Given the description of an element on the screen output the (x, y) to click on. 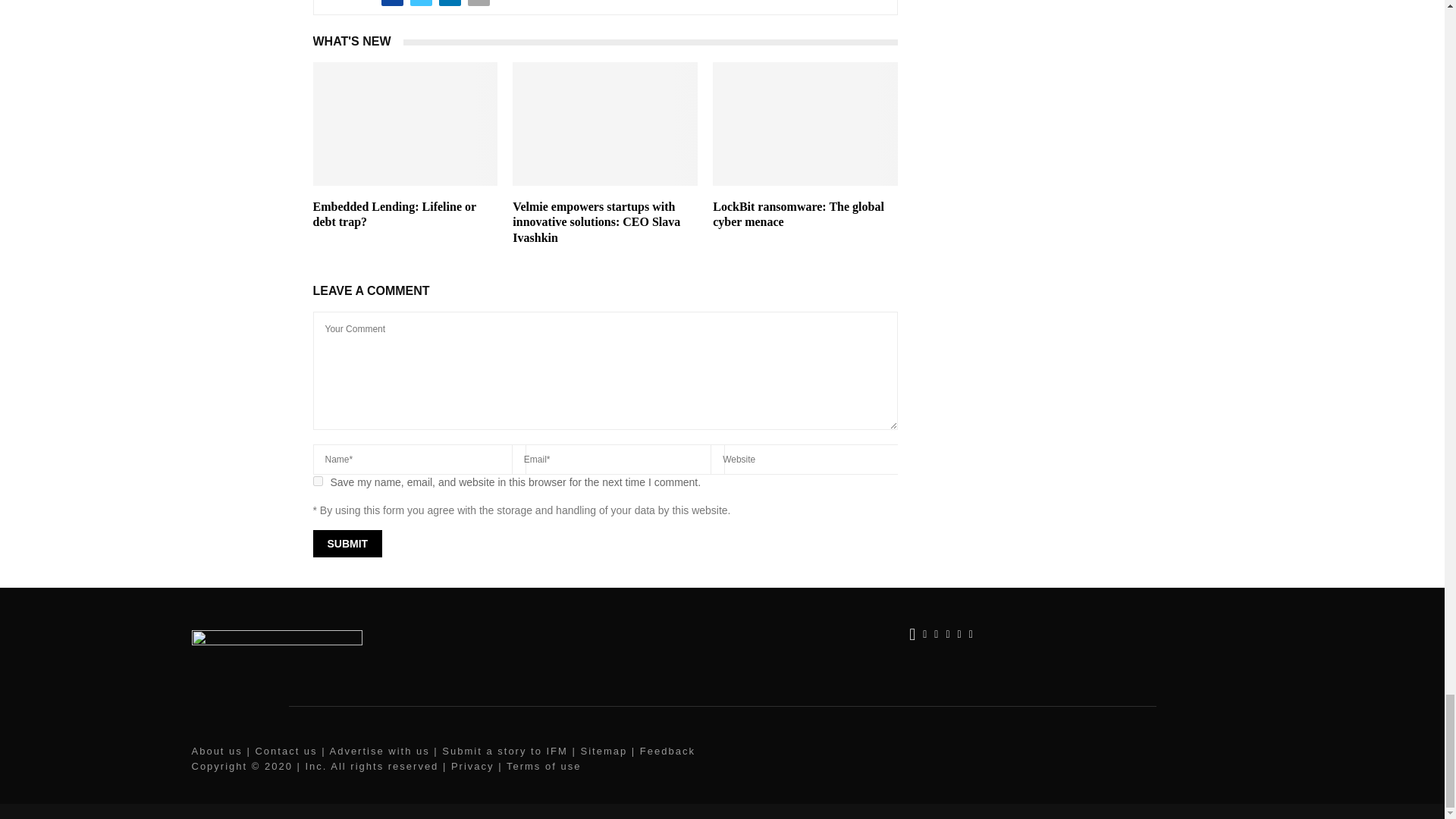
Submit (347, 543)
yes (317, 480)
